Given the description of an element on the screen output the (x, y) to click on. 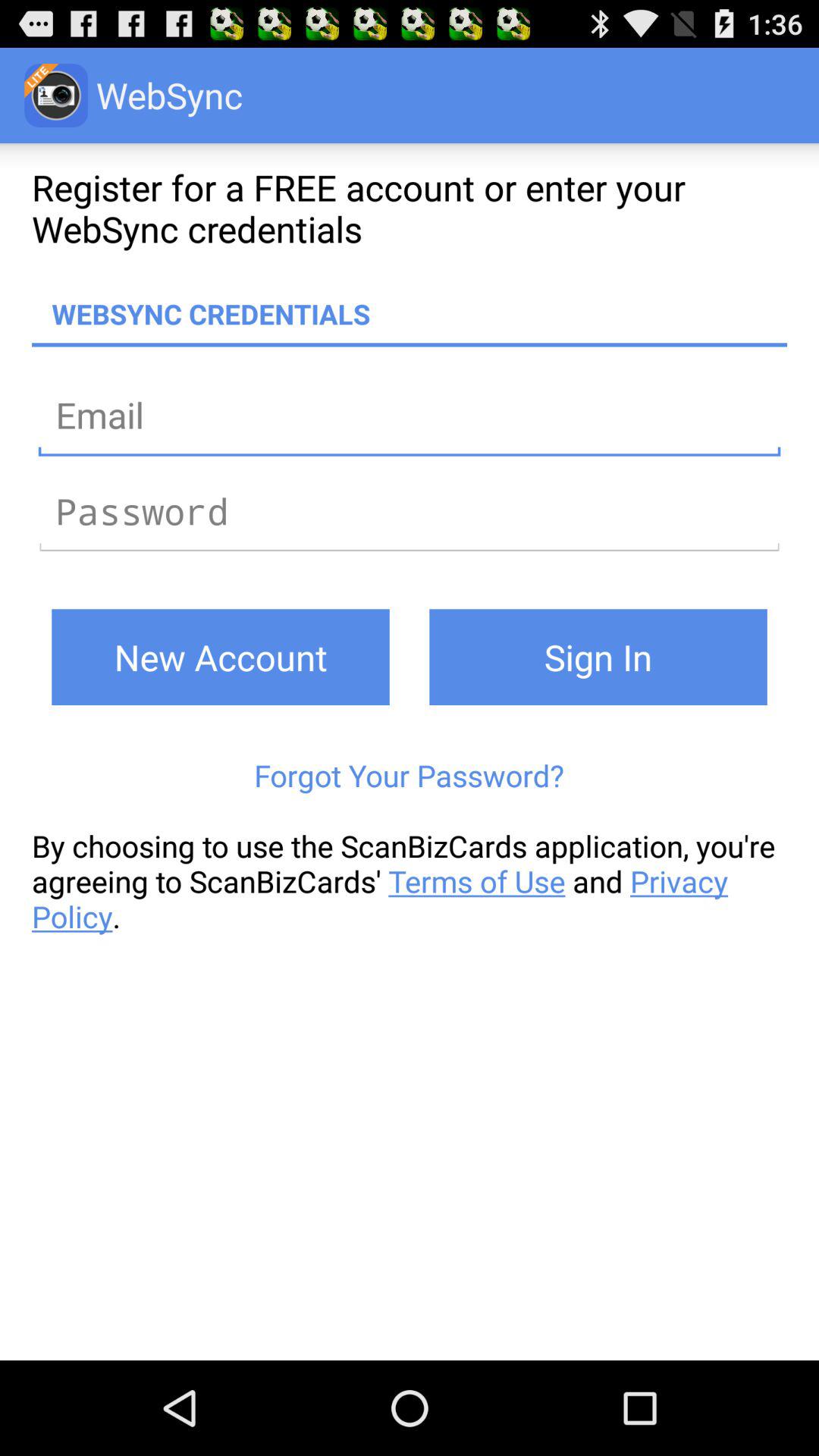
type the e-mail (409, 414)
